Given the description of an element on the screen output the (x, y) to click on. 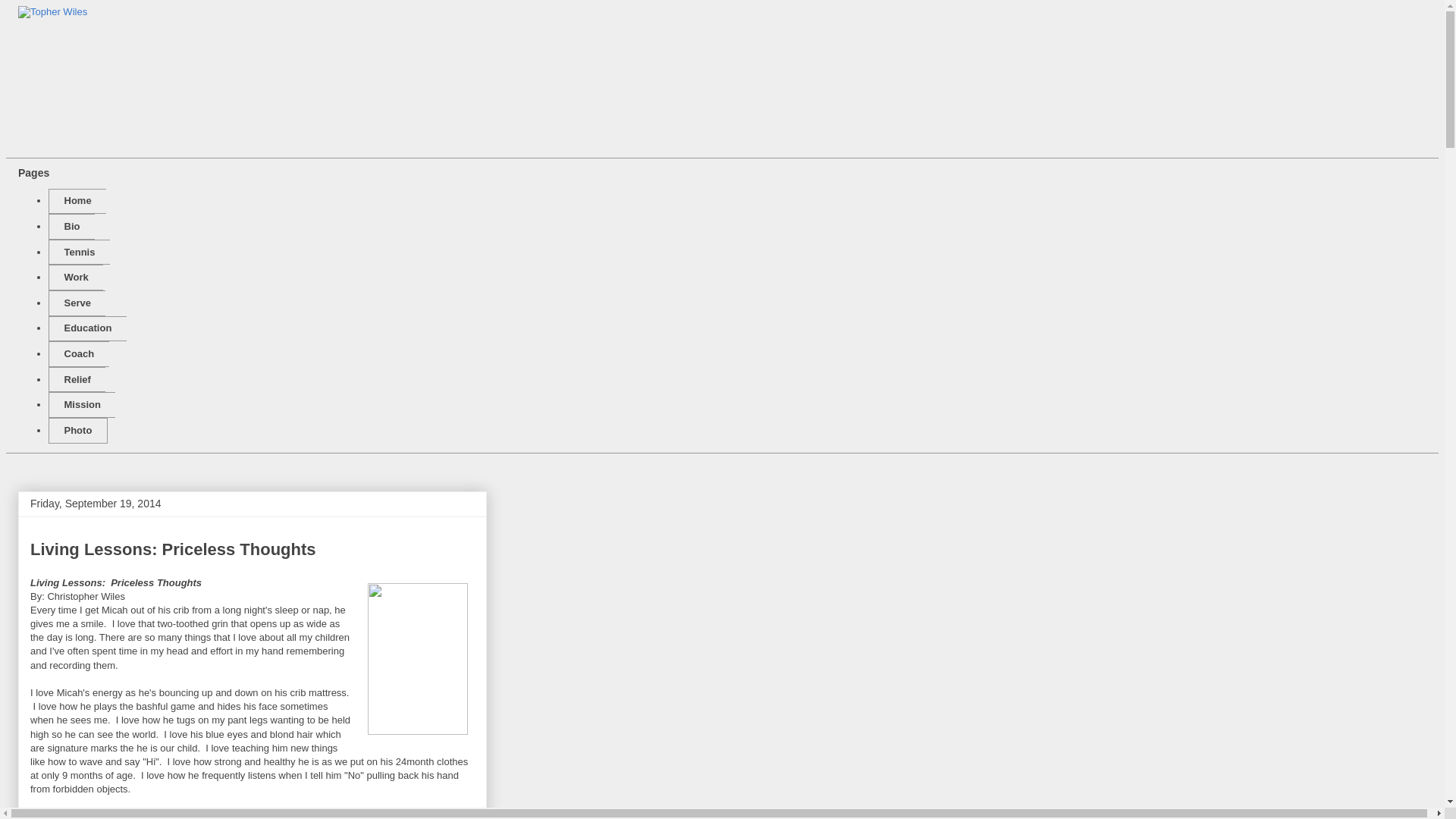
Mission (81, 404)
Work (75, 277)
Coach (78, 353)
Serve (76, 303)
Home (77, 201)
Bio (71, 226)
Education (87, 329)
Relief (76, 379)
Tennis (79, 252)
Photo (77, 430)
